Given the description of an element on the screen output the (x, y) to click on. 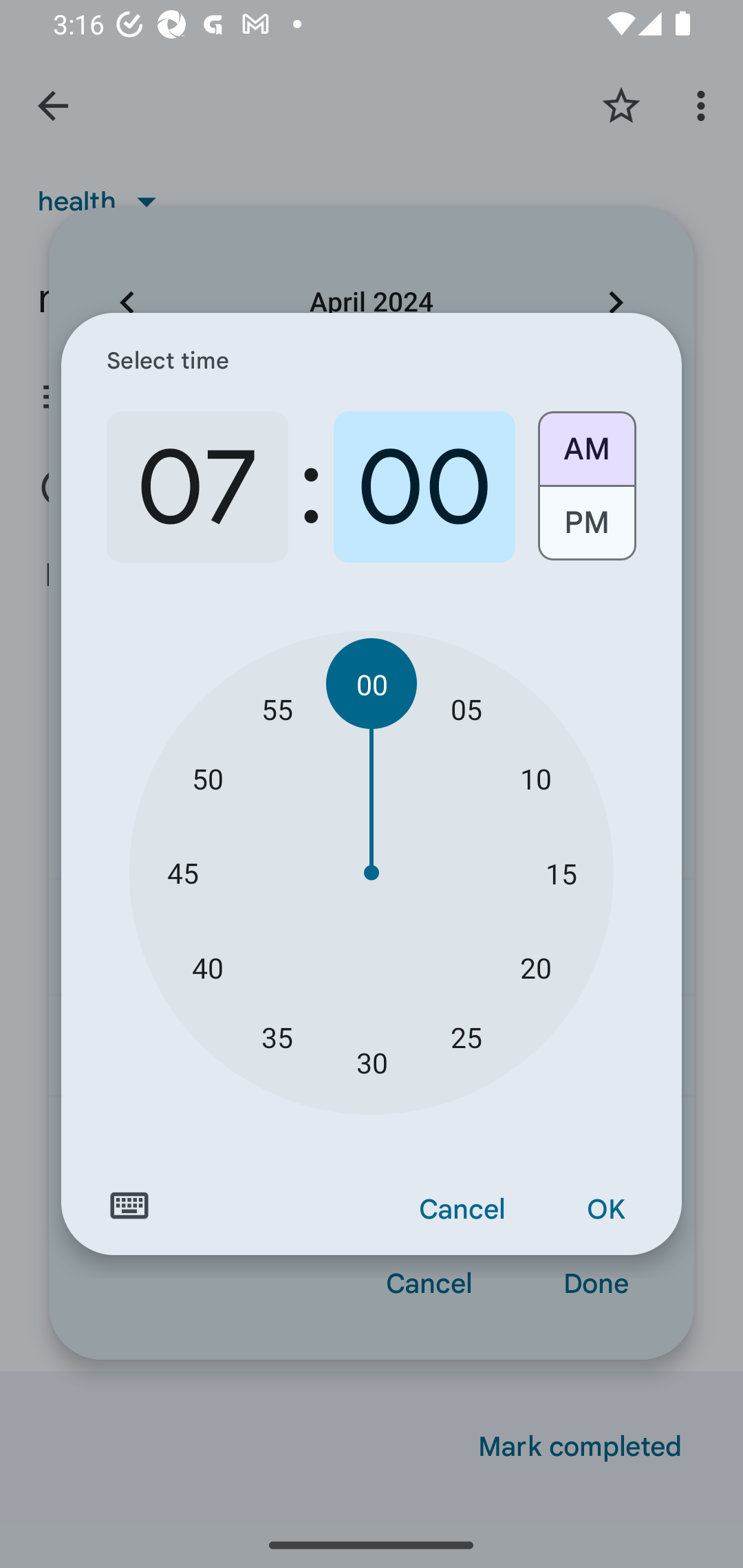
AM (586, 441)
07 7 o'clock (197, 486)
00 0 minutes (424, 486)
PM (586, 529)
00 00 minutes (371, 683)
55 55 minutes (276, 708)
05 05 minutes (466, 708)
50 50 minutes (207, 778)
10 10 minutes (535, 778)
45 45 minutes (182, 872)
15 15 minutes (561, 872)
40 40 minutes (207, 966)
20 20 minutes (535, 966)
35 35 minutes (276, 1035)
25 25 minutes (466, 1035)
30 30 minutes (371, 1062)
Switch to text input mode for the time input. (128, 1205)
Cancel (462, 1209)
OK (605, 1209)
